Given the description of an element on the screen output the (x, y) to click on. 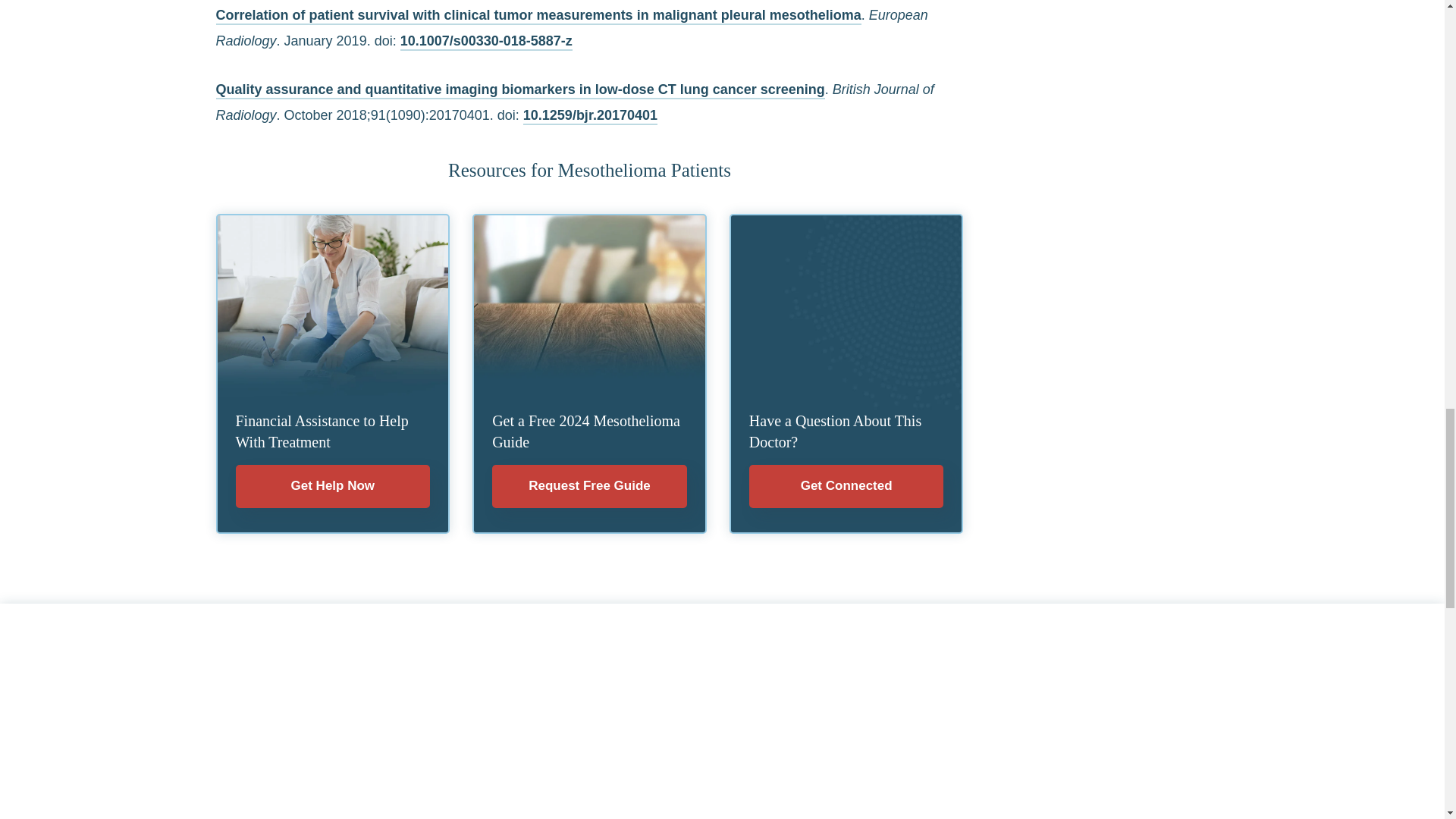
Home (722, 756)
